Given the description of an element on the screen output the (x, y) to click on. 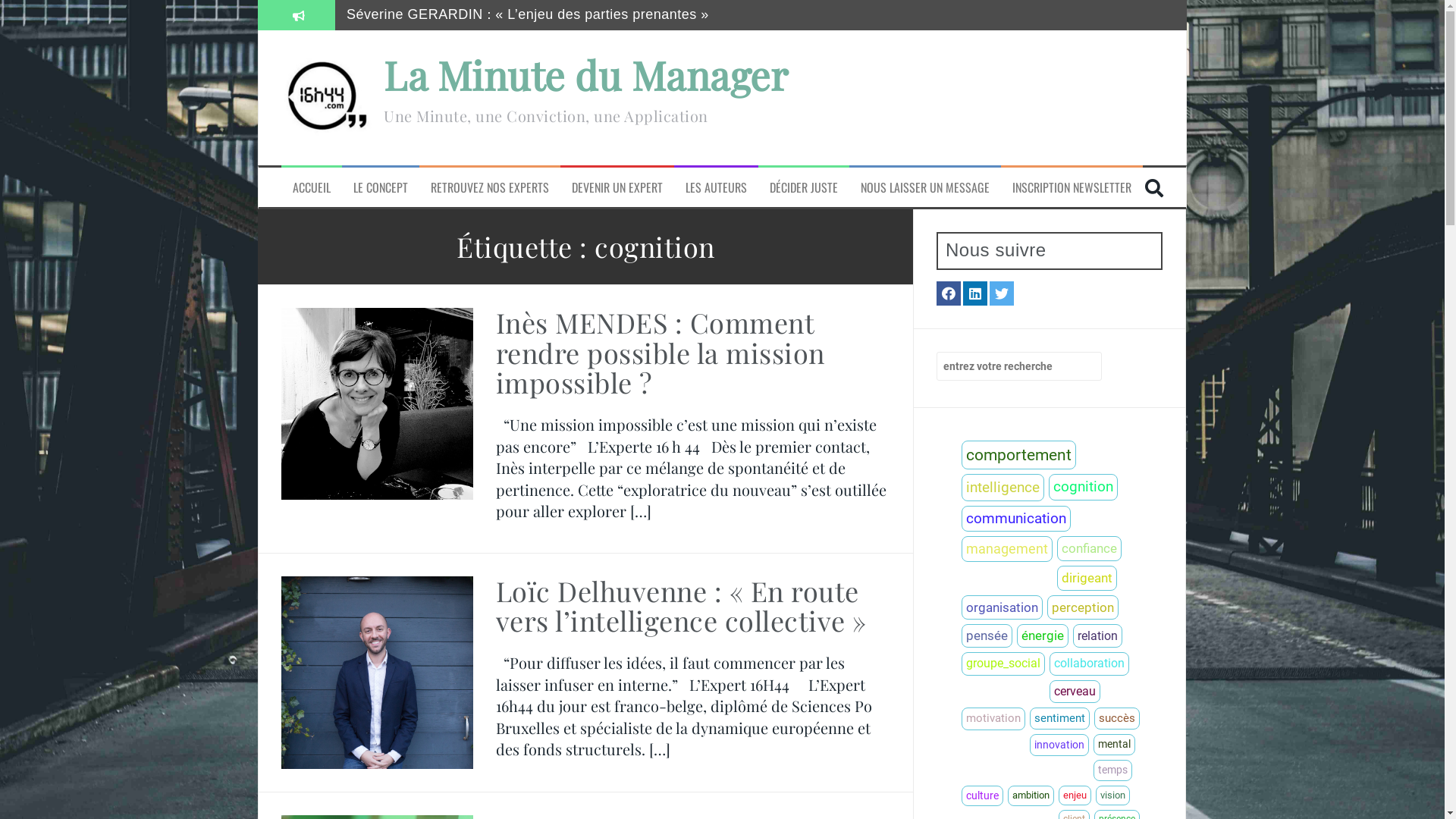
cognition Element type: text (1082, 486)
LE CONCEPT Element type: text (380, 187)
collaboration Element type: text (1089, 663)
ambition Element type: text (1030, 795)
Twitter Element type: hover (1001, 293)
RETROUVEZ NOS EXPERTS Element type: text (489, 187)
motivation Element type: text (993, 718)
Facebook Element type: hover (948, 293)
relation Element type: text (1097, 635)
LinkedIn Element type: hover (975, 293)
confiance Element type: text (1089, 548)
temps Element type: text (1112, 770)
intelligence Element type: text (1002, 487)
innovation Element type: text (1058, 744)
mental Element type: text (1114, 744)
dirigeant Element type: text (1087, 577)
Recherche pour : Element type: hover (1018, 365)
management Element type: text (1006, 548)
culture Element type: text (982, 795)
vision Element type: text (1112, 795)
NOUS LAISSER UN MESSAGE Element type: text (924, 187)
INSCRIPTION NEWSLETTER Element type: text (1071, 187)
ACCUEIL Element type: text (311, 187)
sentiment Element type: text (1059, 718)
La Minute du Manager Element type: text (585, 74)
communication Element type: text (1015, 518)
groupe_social Element type: text (1002, 663)
cerveau Element type: text (1074, 691)
perception Element type: text (1082, 607)
organisation Element type: text (1001, 607)
enjeu Element type: text (1074, 795)
DEVENIR UN EXPERT Element type: text (616, 187)
comportement Element type: text (1018, 454)
LES AUTEURS Element type: text (715, 187)
